Given the description of an element on the screen output the (x, y) to click on. 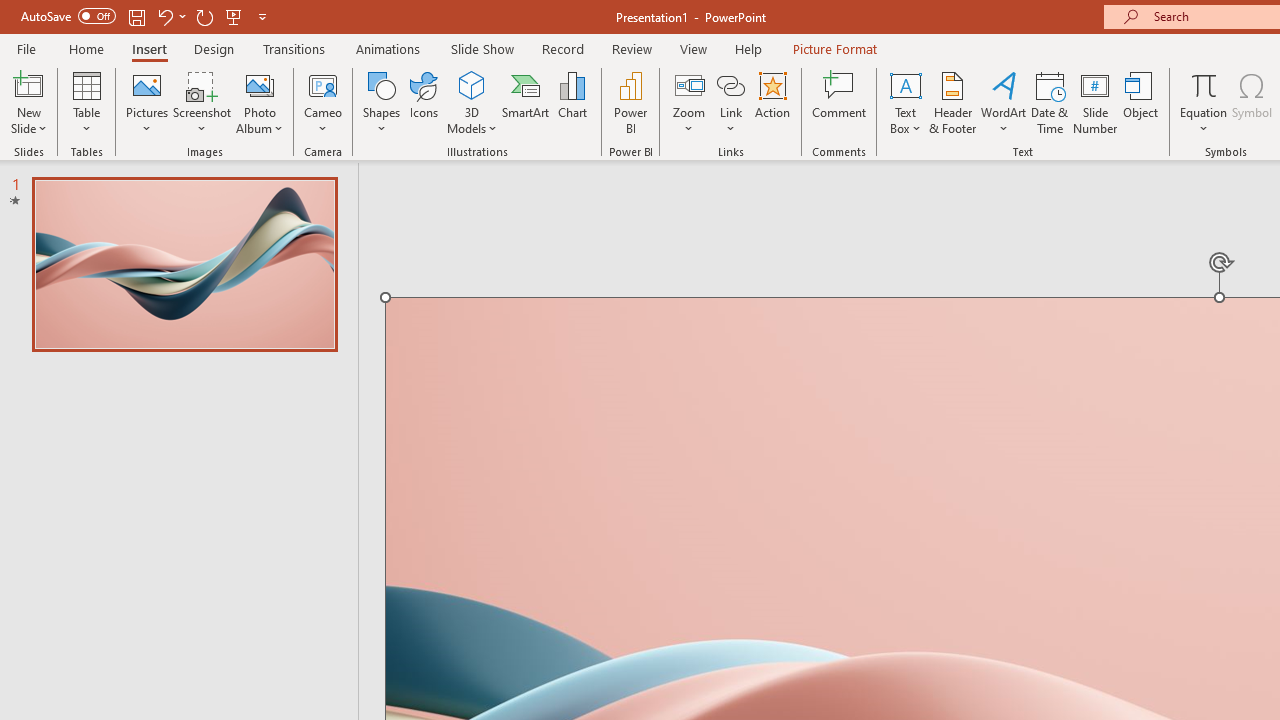
Picture Format (834, 48)
Slide Number (1095, 102)
Photo Album... (259, 102)
Icons (424, 102)
Symbol... (1252, 102)
